Given the description of an element on the screen output the (x, y) to click on. 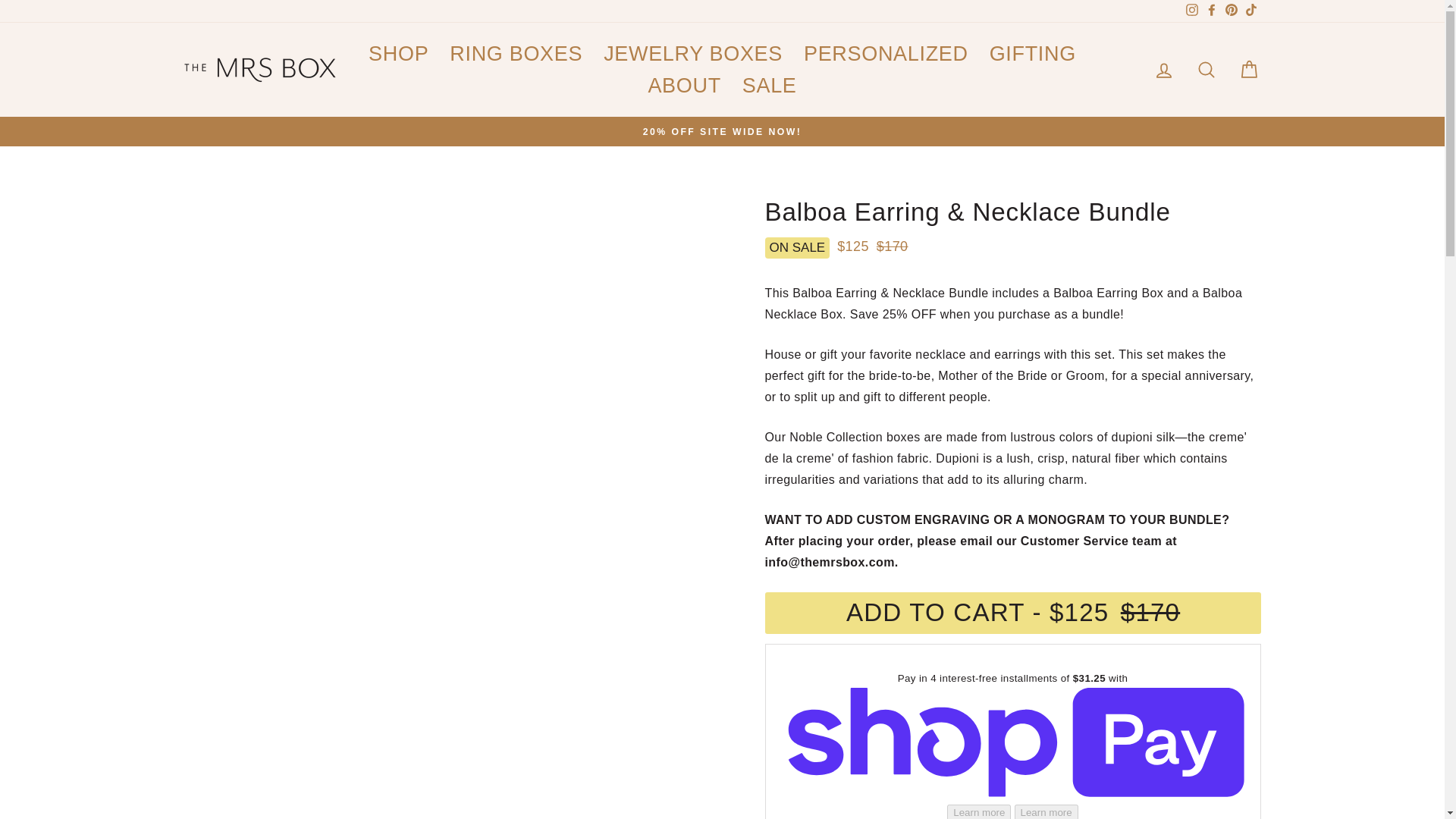
The Mrs. Box on Pinterest (1230, 11)
The Mrs. Box on Instagram (1190, 11)
The Mrs. Box on Facebook (1211, 11)
The Mrs. Box on TikTok (1250, 11)
